Given the description of an element on the screen output the (x, y) to click on. 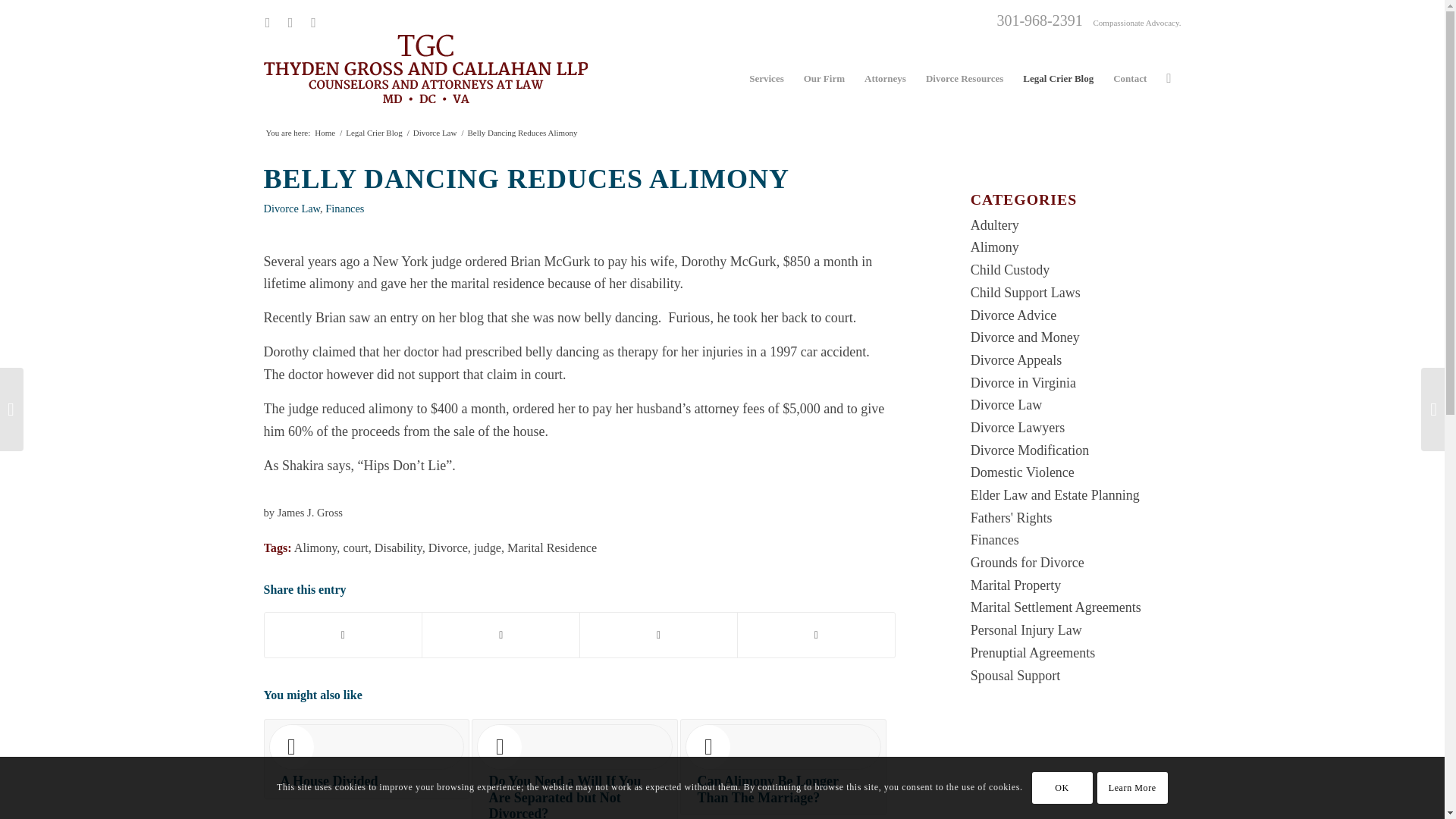
judge (487, 548)
Alimony (995, 246)
Finances (344, 208)
Do You Need a Will If You Are Separated but Not Divorced? (574, 769)
Google (312, 22)
Thyden Gross and Callahan Divorce Lawyers (325, 132)
Divorce Law (291, 208)
Adultery (995, 224)
Legal Crier Blog (373, 132)
Can Alimony Be Longer Than The Marriage? (782, 766)
Can Alimony Be Longer Than The Marriage? (782, 766)
court (355, 548)
LinkedIn (290, 22)
A House Divided (366, 759)
Divorce Resources (964, 78)
